Given the description of an element on the screen output the (x, y) to click on. 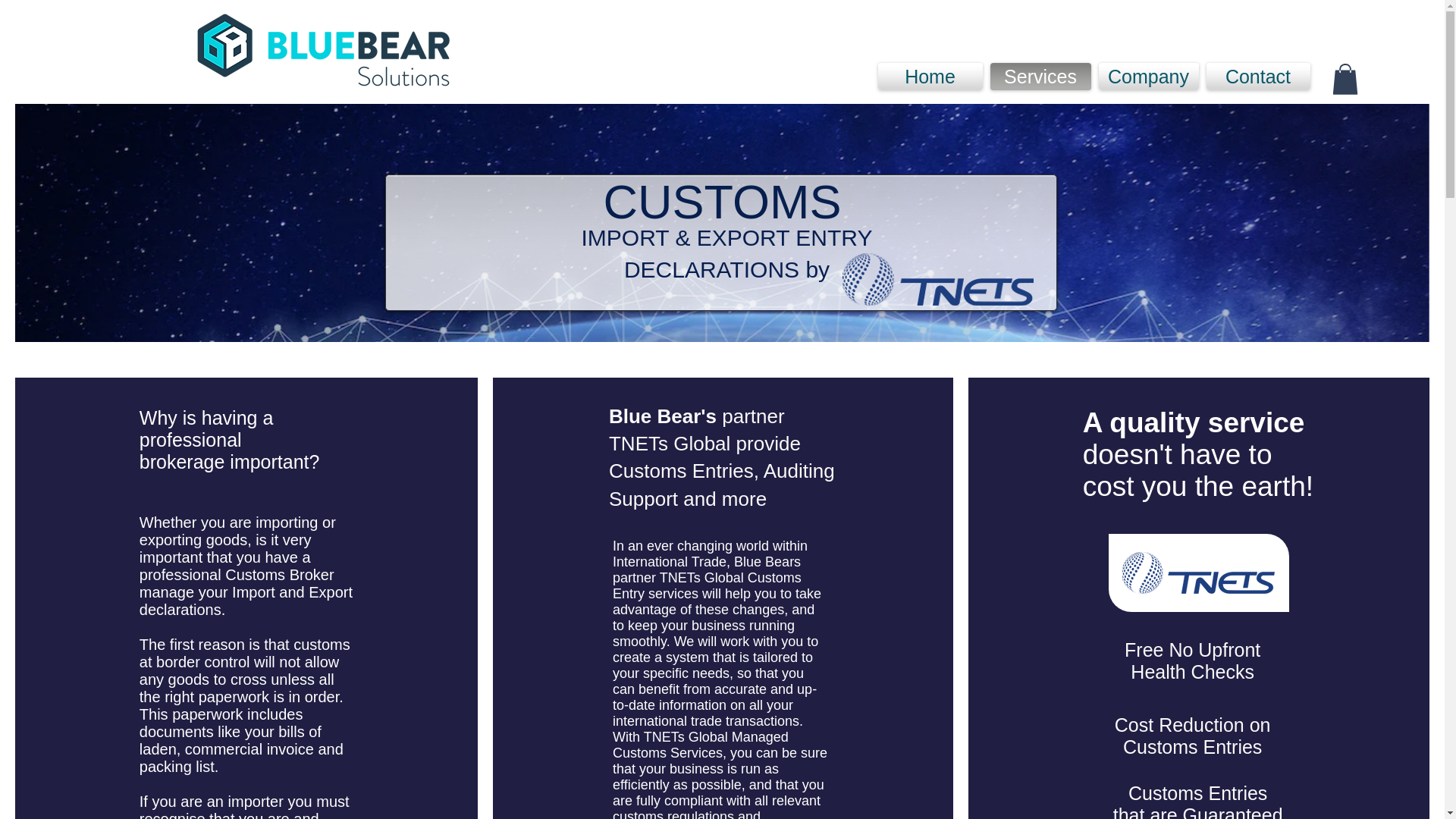
Home (932, 76)
Contact (1256, 76)
Company (1148, 76)
Services (1039, 76)
